Given the description of an element on the screen output the (x, y) to click on. 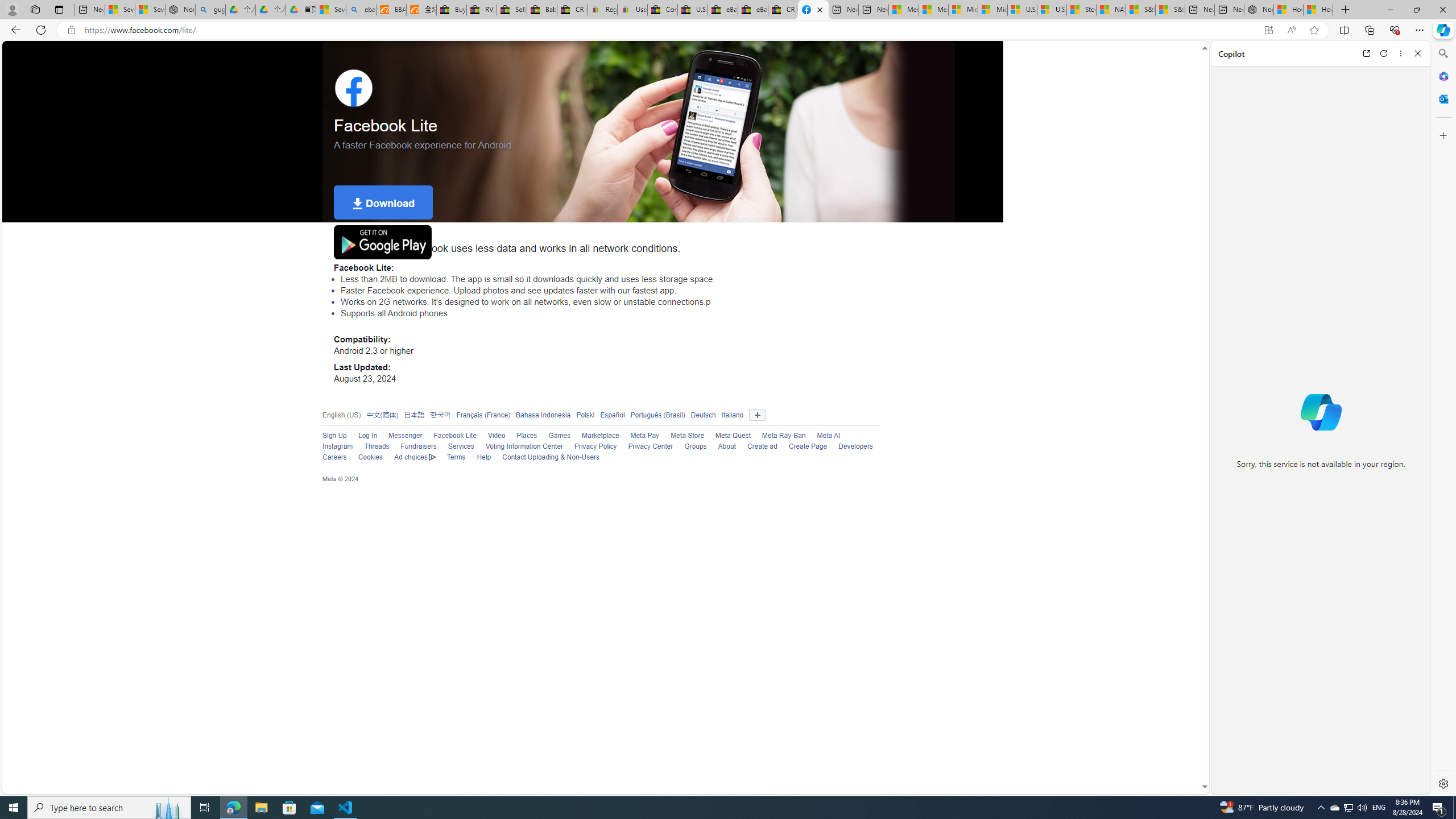
Cookies (364, 457)
Privacy Policy (595, 446)
Games (553, 436)
Meta Ray-Ban (777, 436)
Places (521, 436)
Sign Up (328, 436)
Settings and more (Alt+F) (1419, 29)
Copilot (Ctrl+Shift+.) (1442, 29)
Log In (361, 436)
Meta AI (828, 435)
Facebook Lite (449, 436)
Services (455, 446)
